Given the description of an element on the screen output the (x, y) to click on. 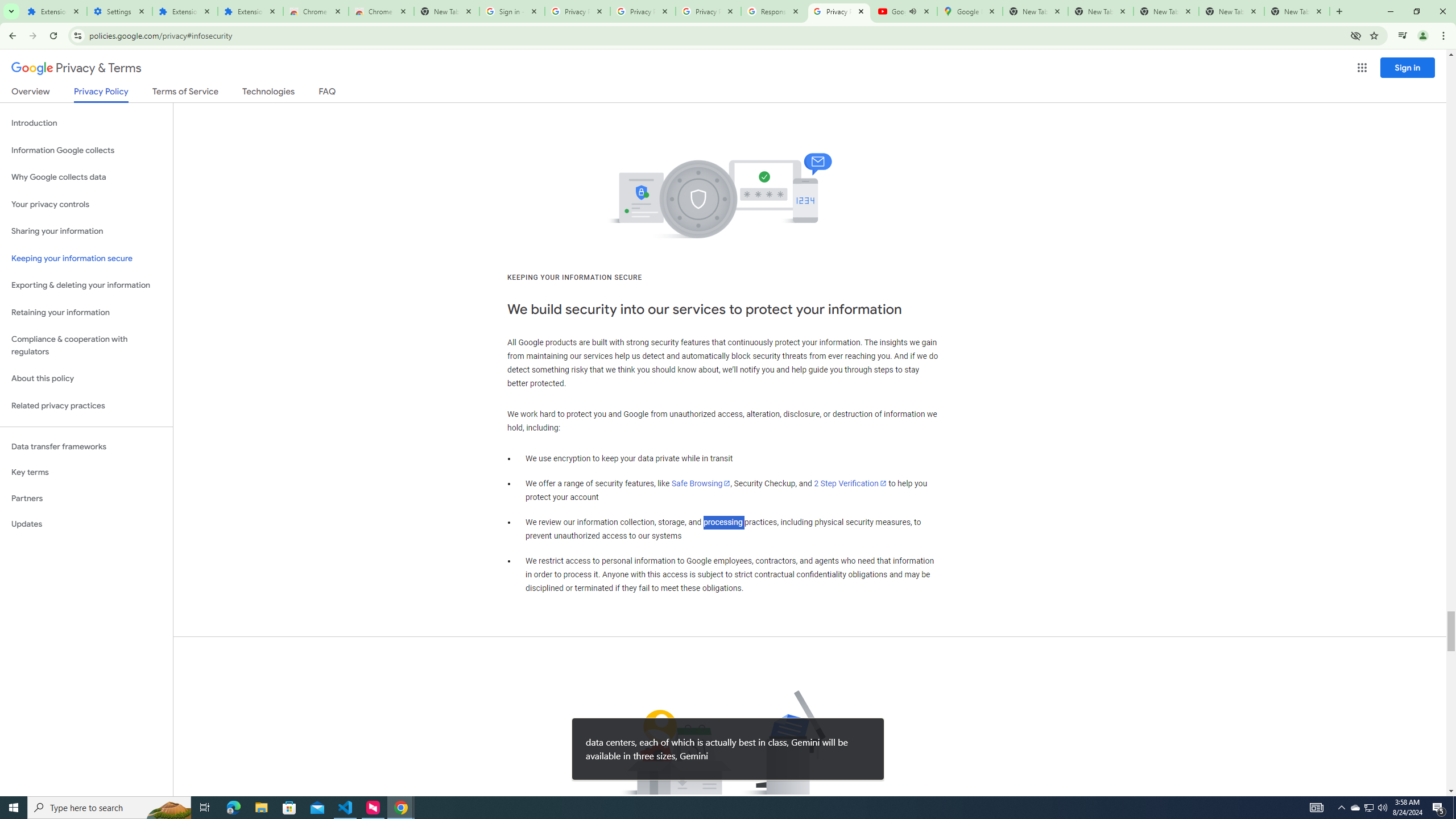
New Tab (446, 11)
Why Google collects data (86, 176)
About this policy (86, 379)
Compliance & cooperation with regulators (86, 345)
Extensions (184, 11)
Extensions (250, 11)
